Given the description of an element on the screen output the (x, y) to click on. 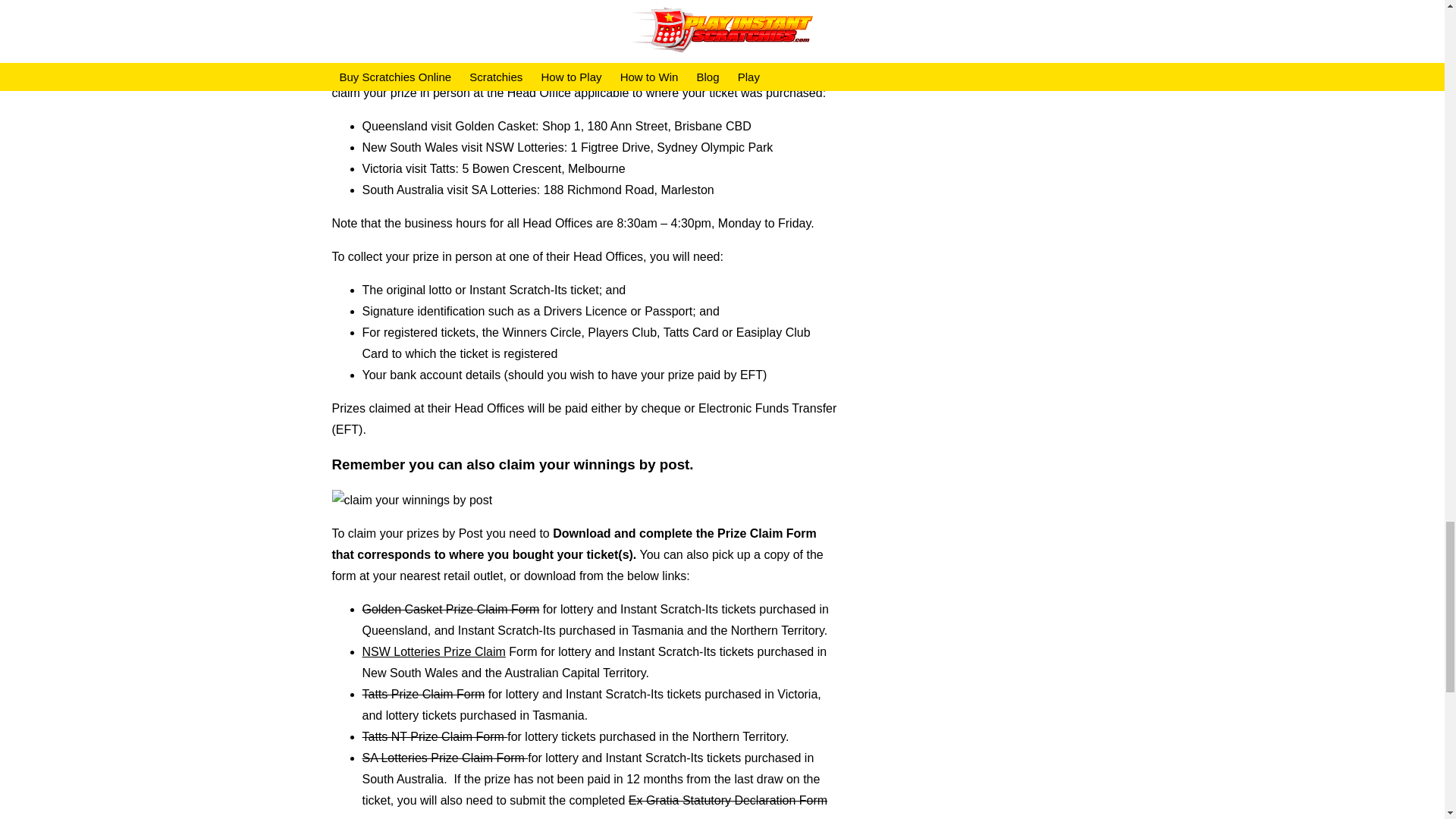
NSW Lotteries Prize Claim (433, 651)
Tatts Prize Claim Form (423, 694)
Ex Gratia Statutory Declaration Form (727, 799)
SA Lotteries Prize Claim Form  (445, 757)
Tatts NT Prize Claim Form  (435, 736)
Golden Casket Prize Claim Form (451, 608)
